Given the description of an element on the screen output the (x, y) to click on. 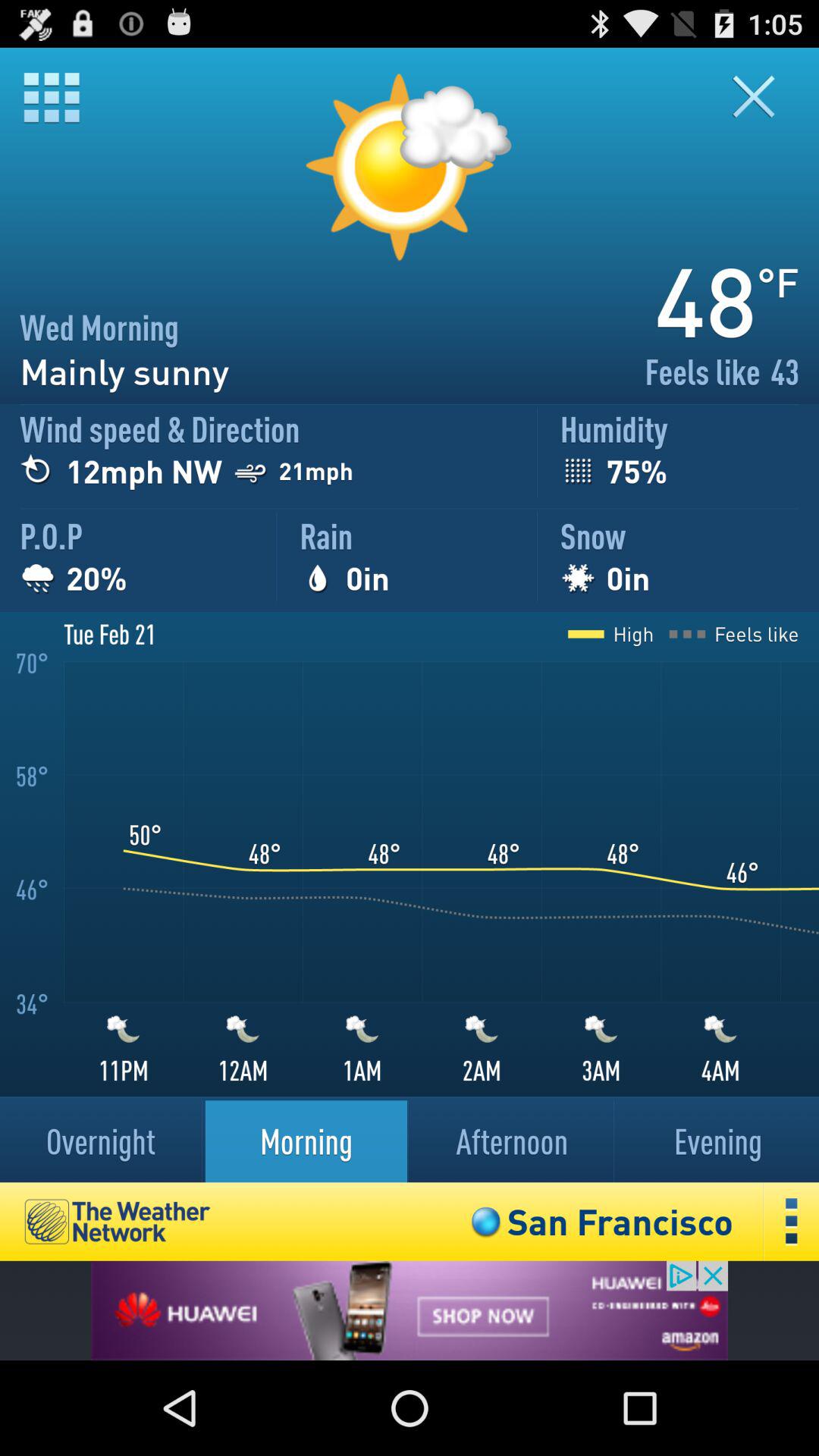
open advertisement (409, 1310)
